Given the description of an element on the screen output the (x, y) to click on. 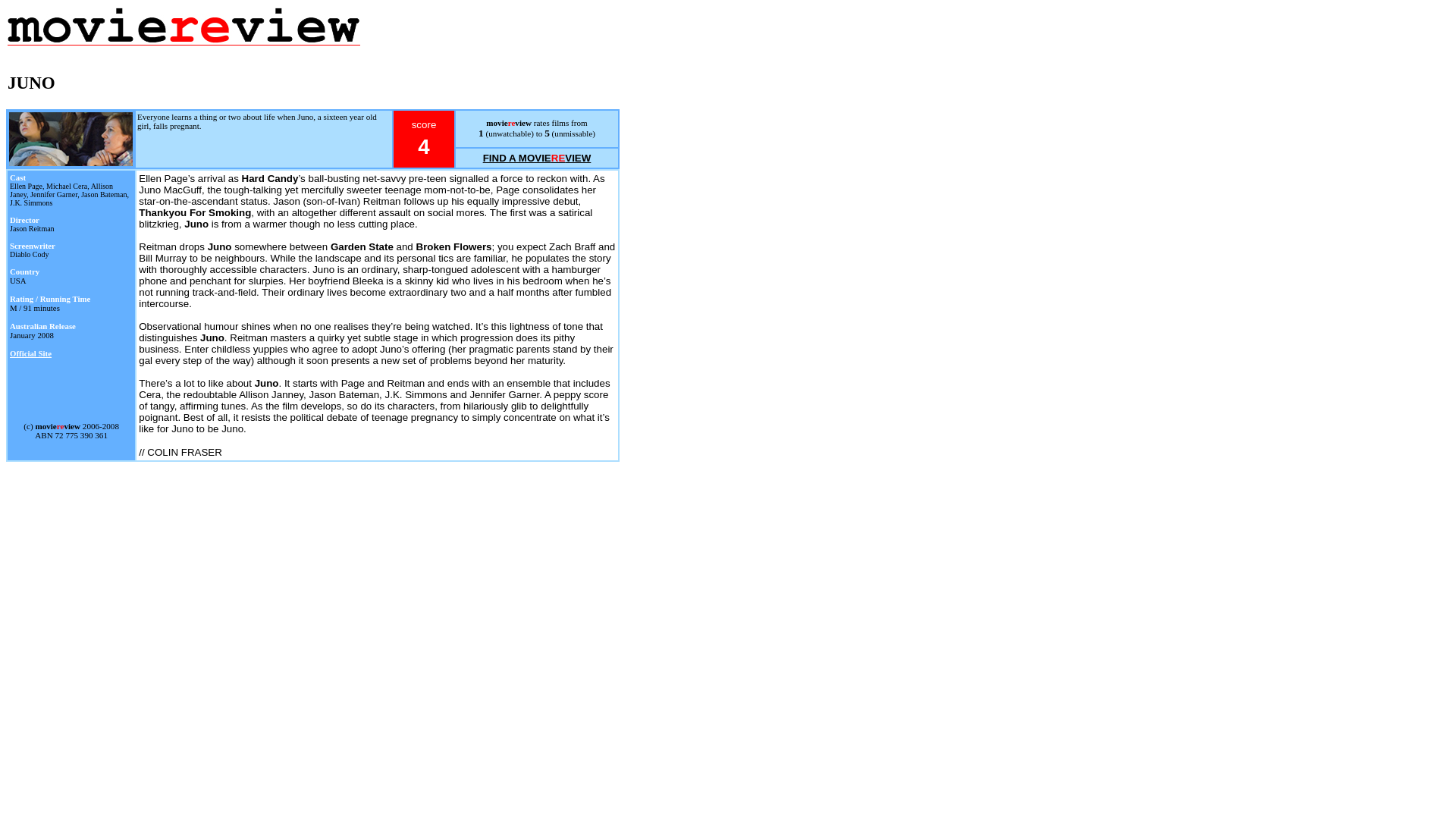
home Element type: hover (183, 26)
Official Site Element type: text (30, 352)
FIND A MOVIEREVIEW Element type: text (537, 156)
Advertisement Element type: hover (569, 54)
